Given the description of an element on the screen output the (x, y) to click on. 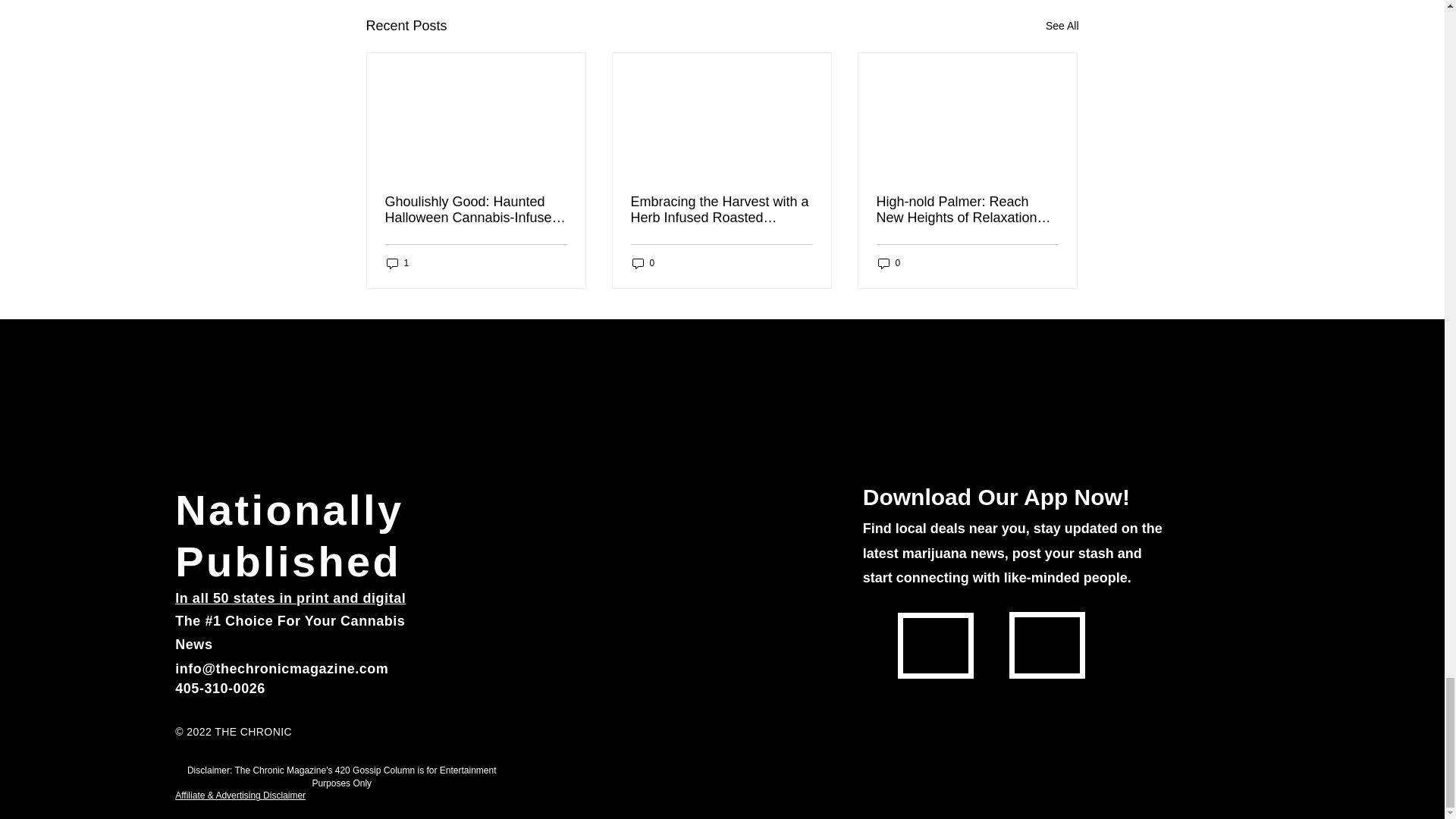
1 (397, 263)
0 (643, 263)
0 (889, 263)
See All (1061, 25)
